Given the description of an element on the screen output the (x, y) to click on. 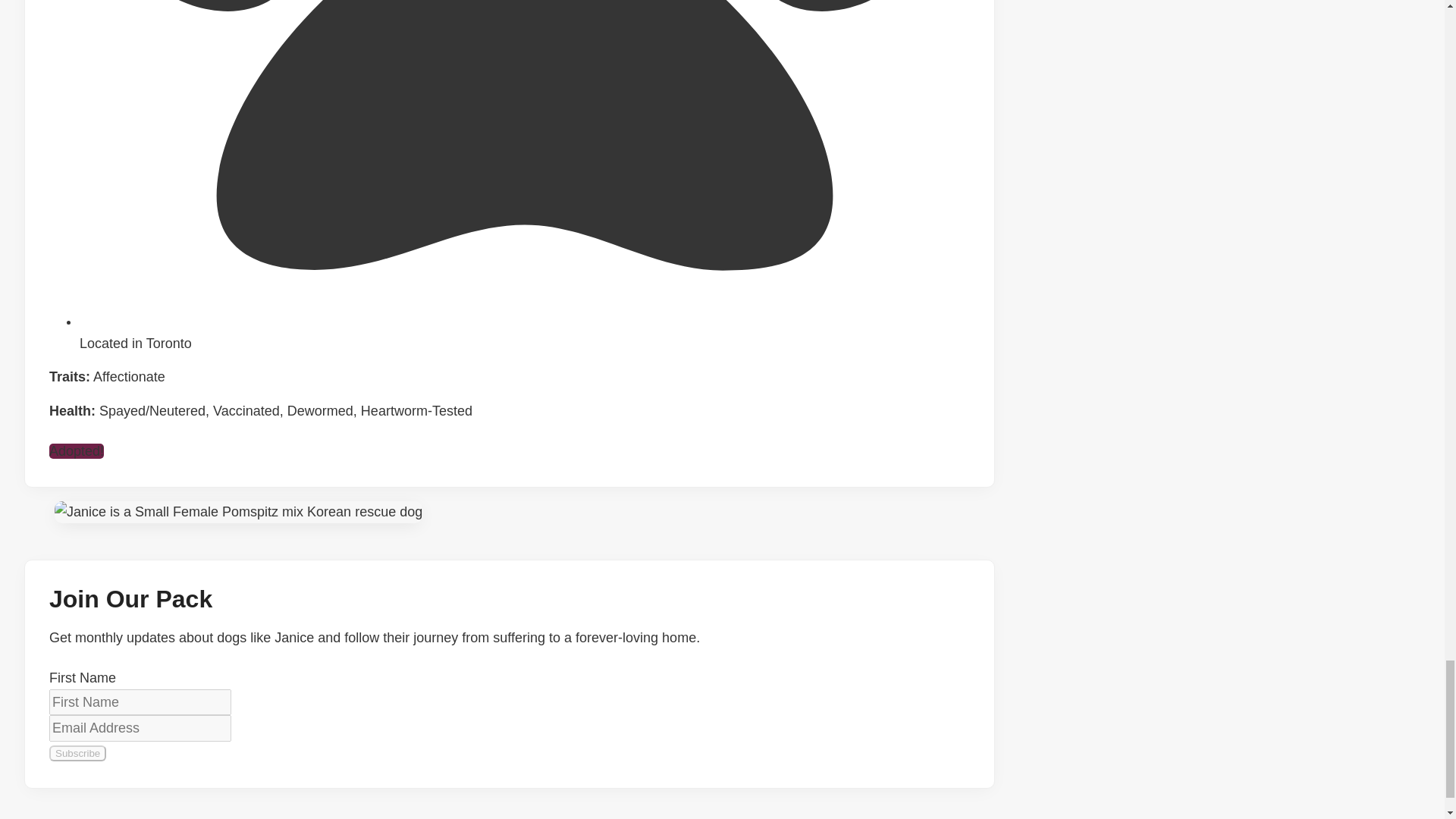
Subscribe (77, 753)
